Given the description of an element on the screen output the (x, y) to click on. 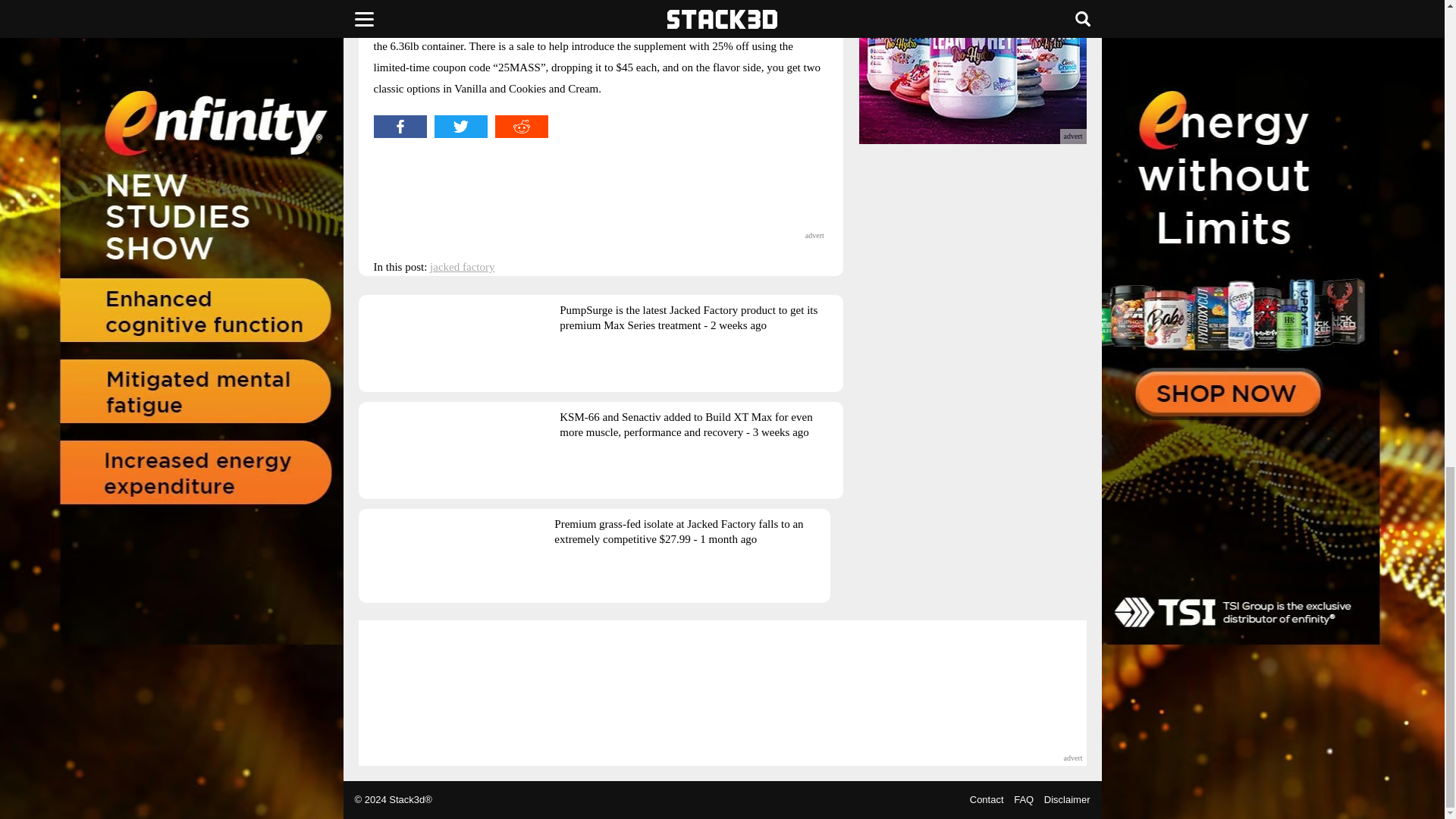
through its online store (588, 5)
